Given the description of an element on the screen output the (x, y) to click on. 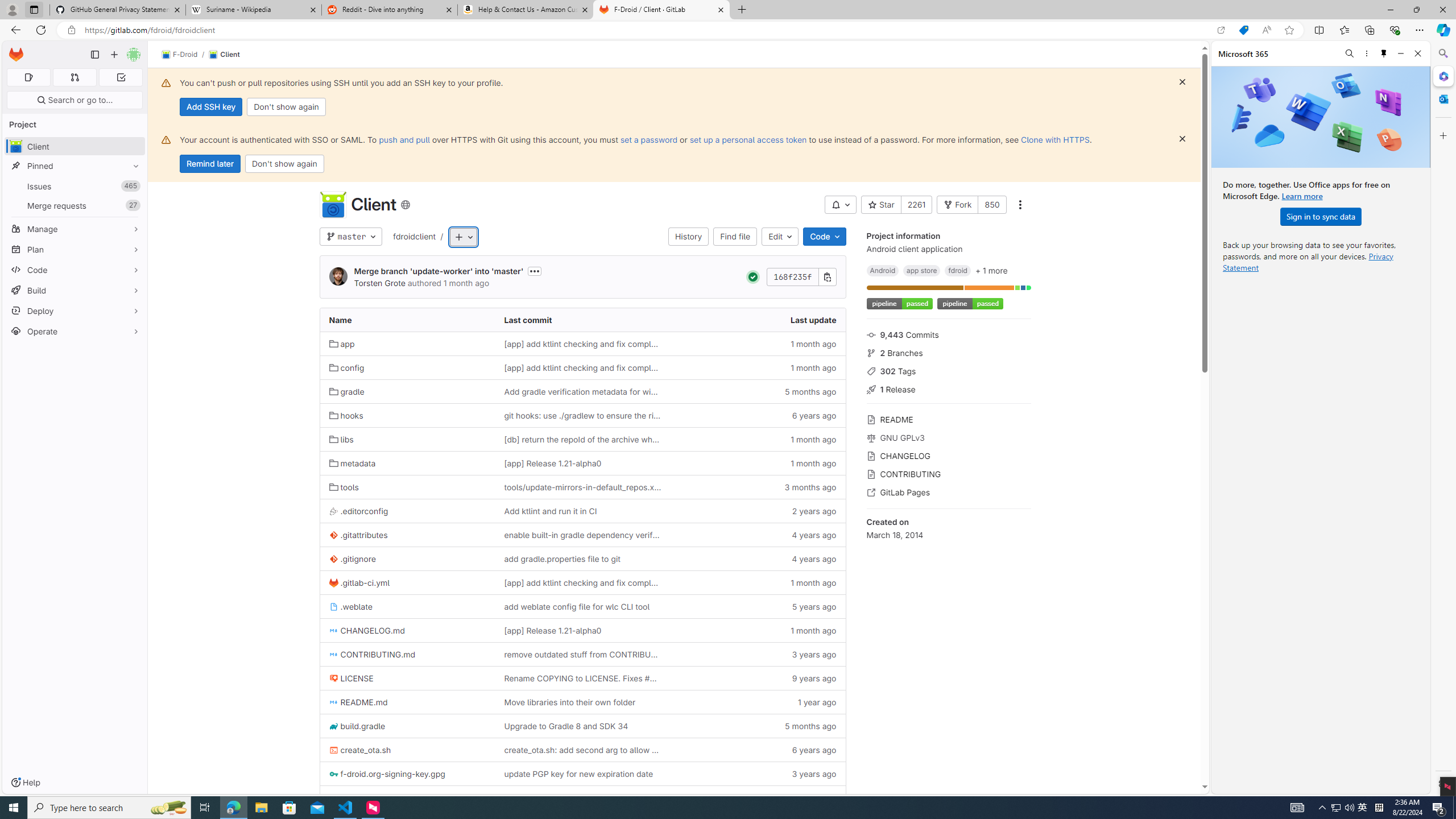
Rename COPYING to LICENSE. Fixes #384 (583, 677)
302 Tags (948, 369)
app store (922, 269)
config (407, 367)
build.gradle (357, 725)
Rename COPYING to LICENSE. Fixes #384 (582, 678)
Assigned issues 0 (28, 76)
gradle.properties (367, 797)
6 years ago (757, 749)
Move libraries into their own folder (569, 702)
